Given the description of an element on the screen output the (x, y) to click on. 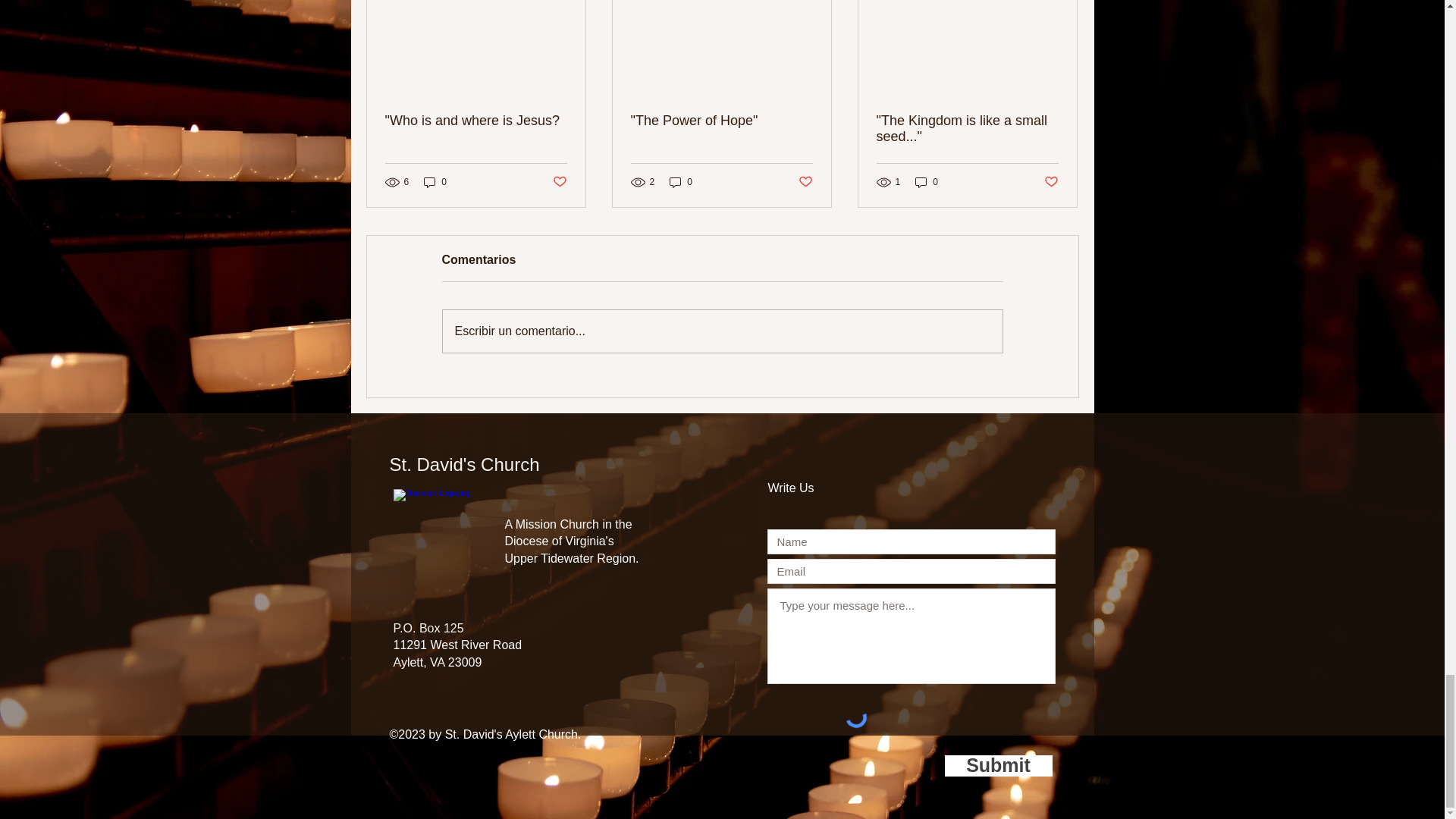
0 (681, 181)
"The Kingdom is like a small seed..." (967, 128)
0 (435, 181)
Post not marked as liked (804, 182)
0 (926, 181)
Post not marked as liked (1050, 182)
"The Power of Hope" (721, 120)
"Who is and where is Jesus? (476, 120)
Escribir un comentario... (722, 331)
Post not marked as liked (558, 182)
